Given the description of an element on the screen output the (x, y) to click on. 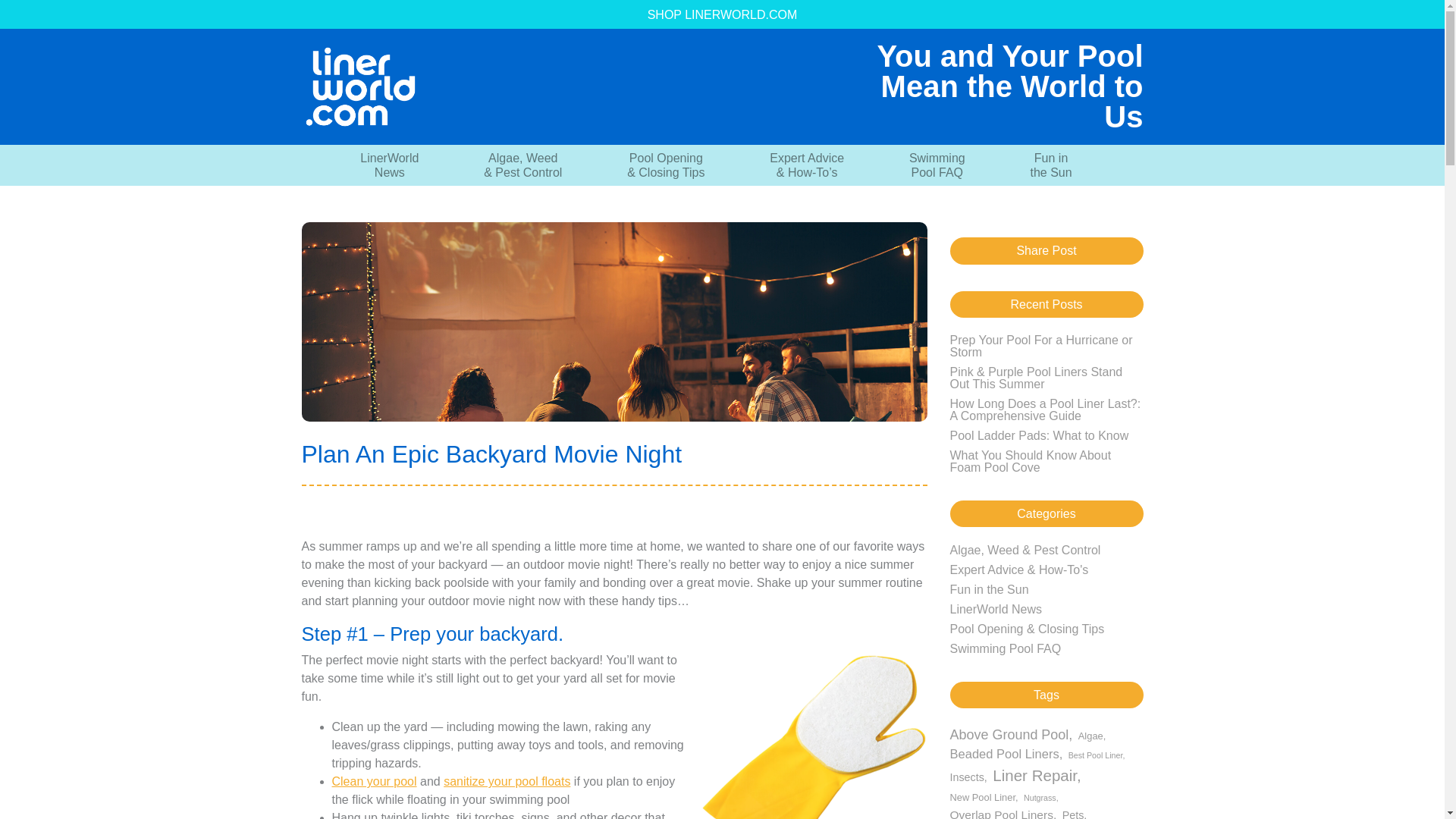
Clean your pool (373, 780)
What You Should Know About Foam Pool Cove (1029, 461)
How Long Does a Pool Liner Last?: A Comprehensive Guide (1044, 409)
sanitize your pool floats (507, 780)
Pool Ladder Pads: What to Know (1038, 435)
SHOP LINERWORLD.COM (721, 15)
Prep Your Pool For a Hurricane or Storm (1040, 345)
